Given the description of an element on the screen output the (x, y) to click on. 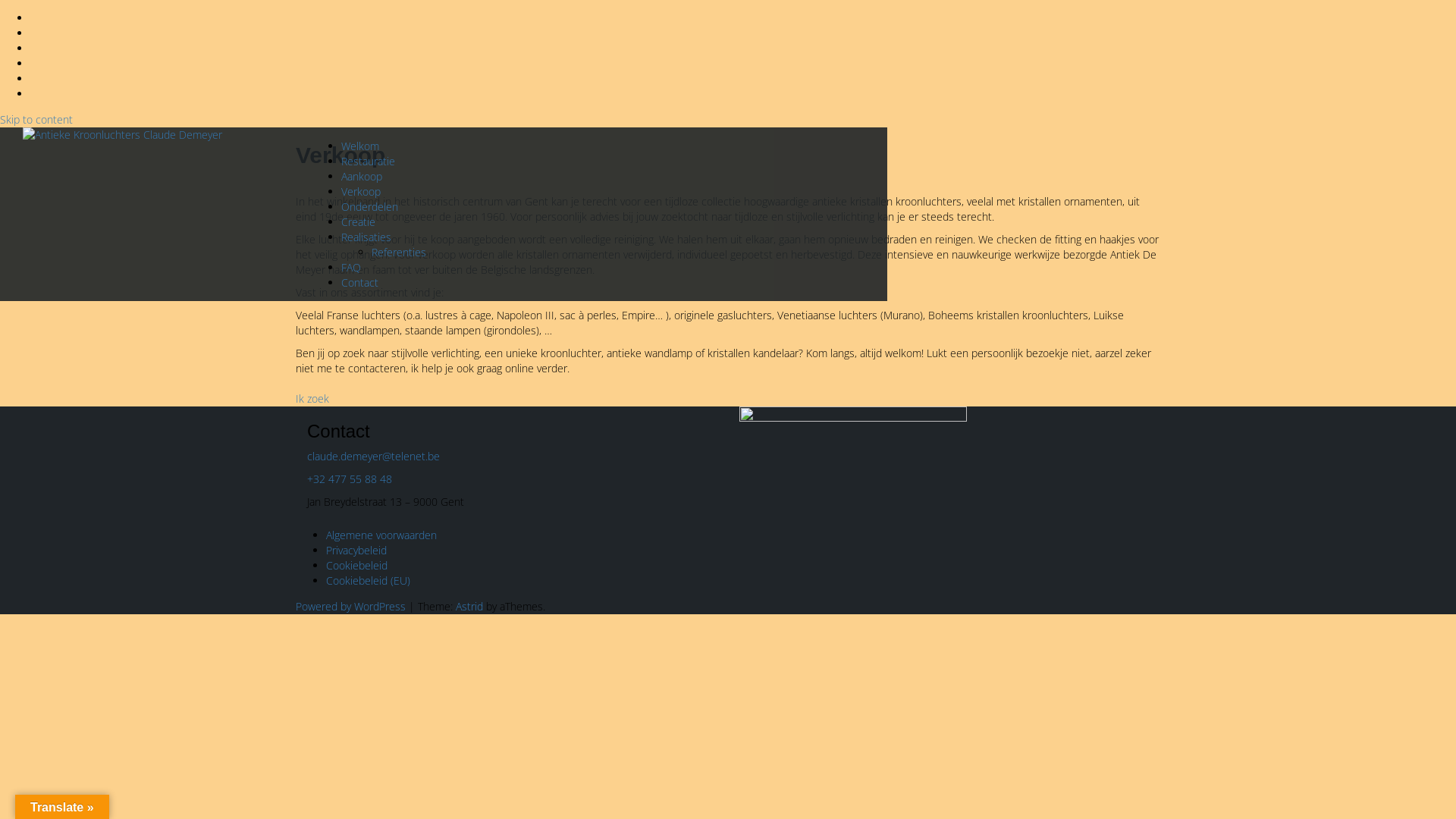
Skip to content Element type: text (36, 119)
Cookiebeleid Element type: text (356, 565)
Realisaties Element type: text (366, 236)
Creatie Element type: text (358, 221)
Contact Element type: text (359, 282)
Cookiebeleid (EU) Element type: text (368, 580)
Powered by WordPress Element type: text (350, 606)
FAQ Element type: text (350, 267)
Welkom Element type: text (360, 145)
Privacybeleid Element type: text (356, 549)
Verkoop Element type: text (360, 191)
Astrid Element type: text (469, 606)
Onderdelen Element type: text (369, 206)
Restauratie Element type: text (368, 160)
+32 477 55 88 48 Element type: text (349, 478)
Ik zoek Element type: text (312, 398)
Referenties Element type: text (398, 251)
Aankoop Element type: text (361, 176)
claude.demeyer@telenet.be Element type: text (373, 455)
Algemene voorwaarden Element type: text (381, 534)
